Given the description of an element on the screen output the (x, y) to click on. 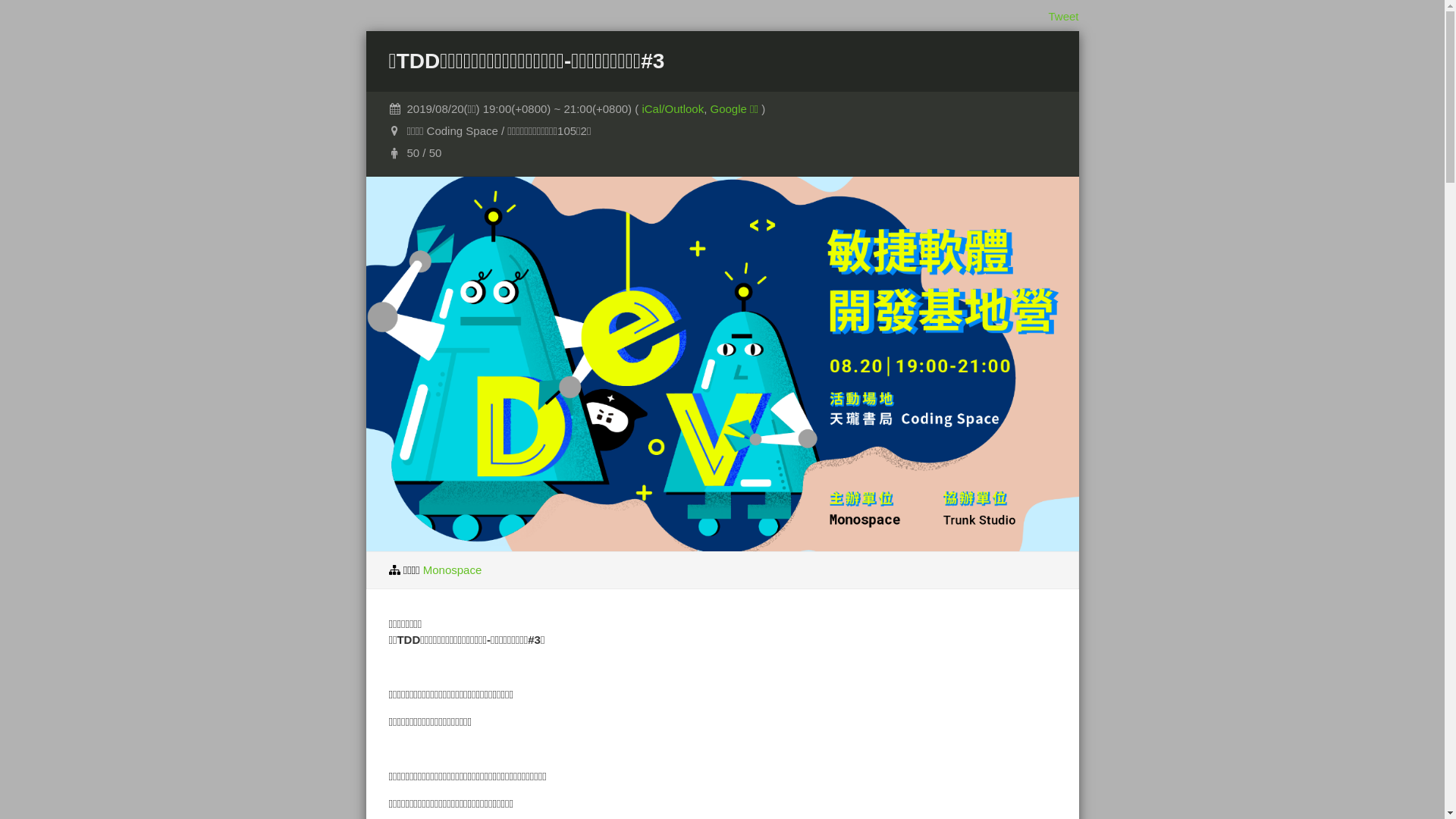
iCal/Outlook Element type: text (672, 108)
Monospace Element type: text (452, 568)
Tweet Element type: text (1063, 15)
